Given the description of an element on the screen output the (x, y) to click on. 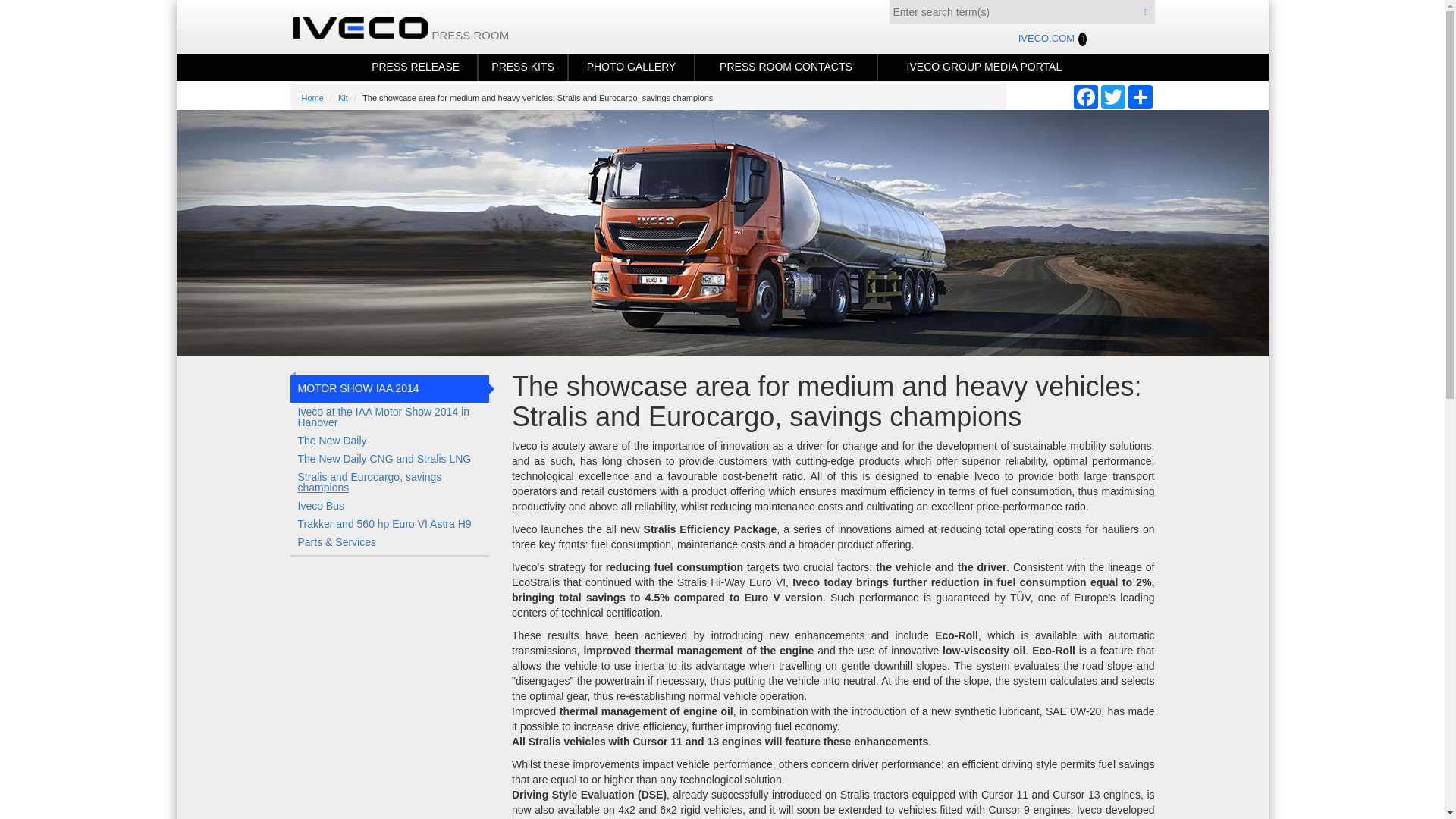
Press release Iveco (416, 67)
IVECO.COM (1050, 39)
Press Kits (523, 67)
PRESS RELEASE (416, 67)
Iveco (368, 26)
PRESS KITS (523, 67)
